Given the description of an element on the screen output the (x, y) to click on. 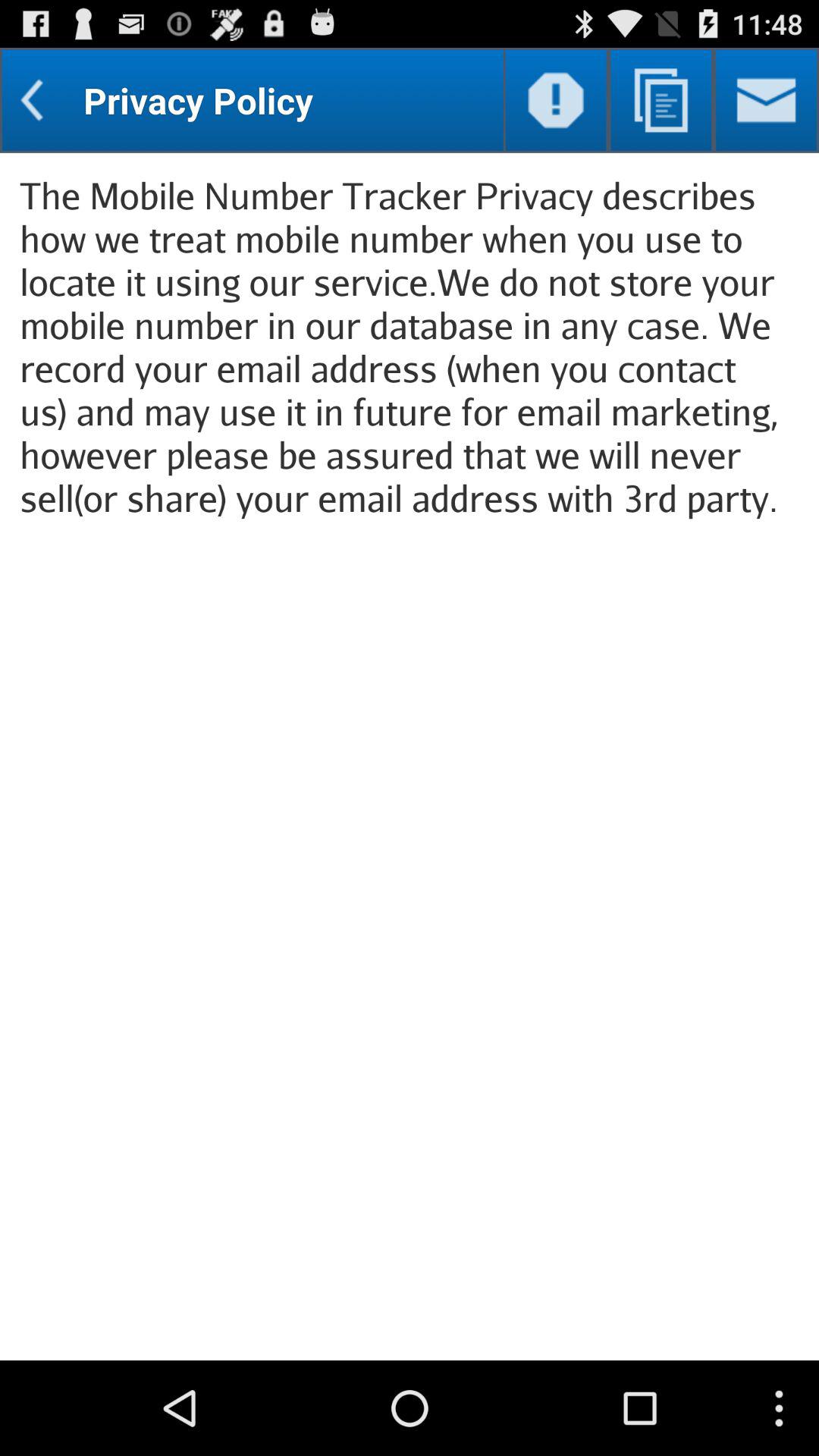
send an e-mail (766, 99)
